Given the description of an element on the screen output the (x, y) to click on. 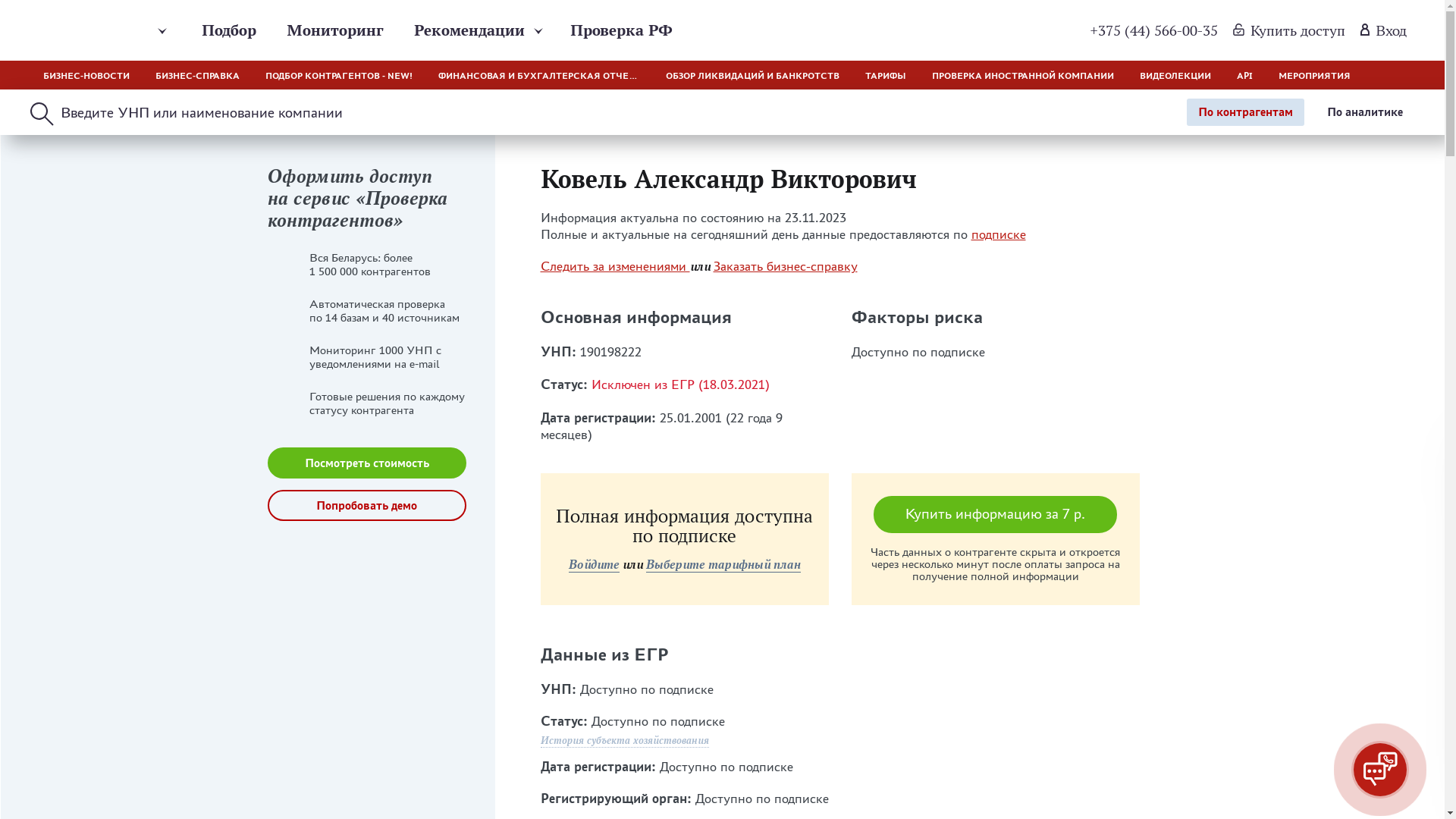
+375 (44) 566-00-35 Element type: text (1153, 29)
API Element type: text (1244, 74)
